Given the description of an element on the screen output the (x, y) to click on. 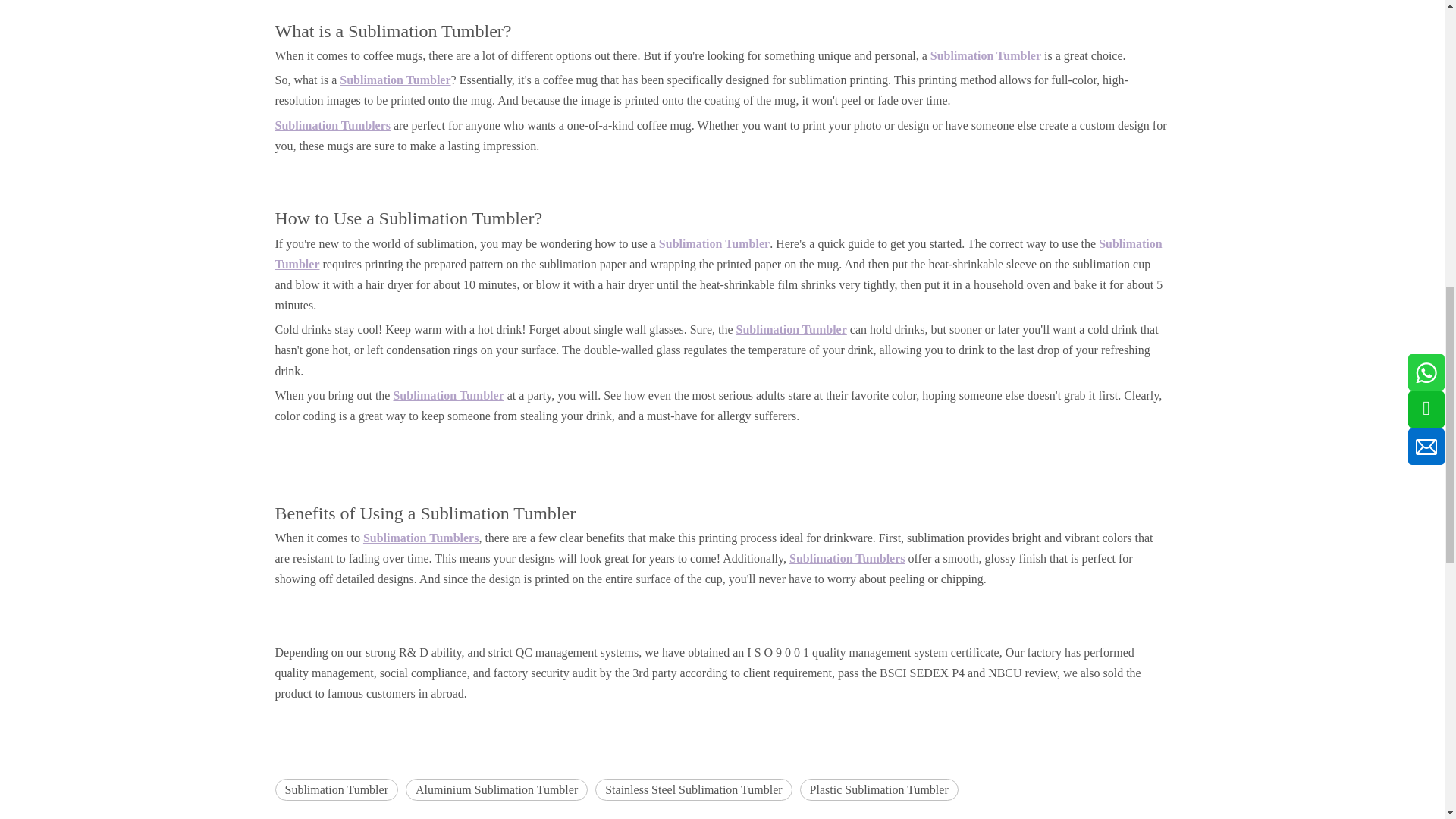
Aluminium Sublimation Tumbler (497, 789)
Stainless Steel Sublimation Tumbler (693, 789)
Sublimation Tumbler (336, 789)
Plastic Sublimation Tumbler (878, 789)
